Given the description of an element on the screen output the (x, y) to click on. 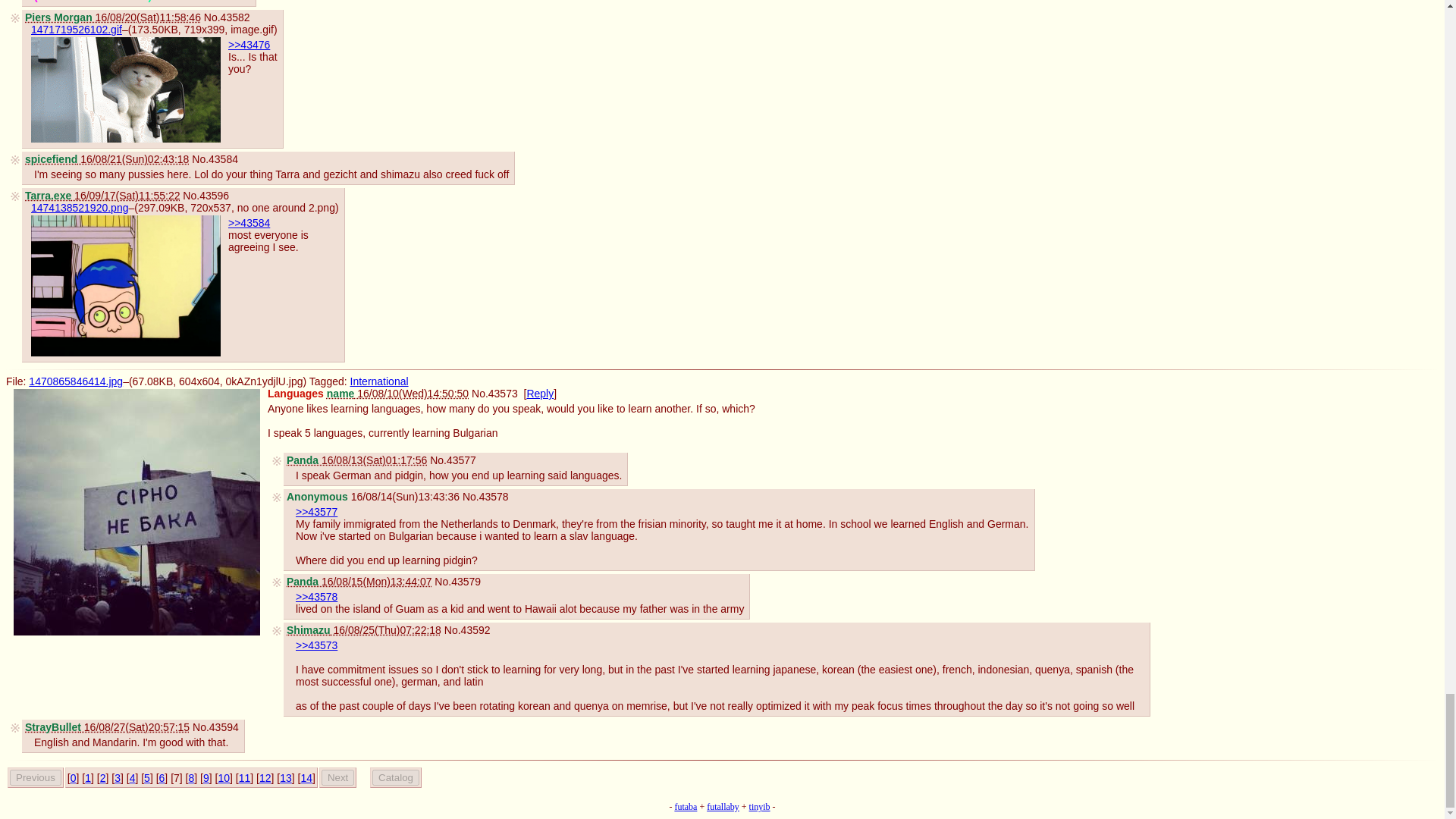
Previous (35, 777)
Next (337, 777)
Catalog (395, 777)
